Given the description of an element on the screen output the (x, y) to click on. 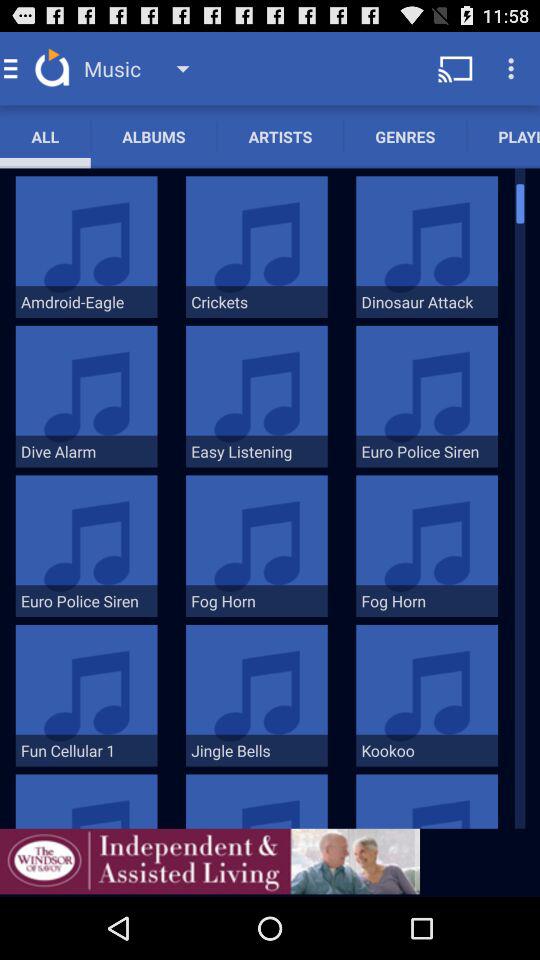
addverdisment (210, 861)
